Given the description of an element on the screen output the (x, y) to click on. 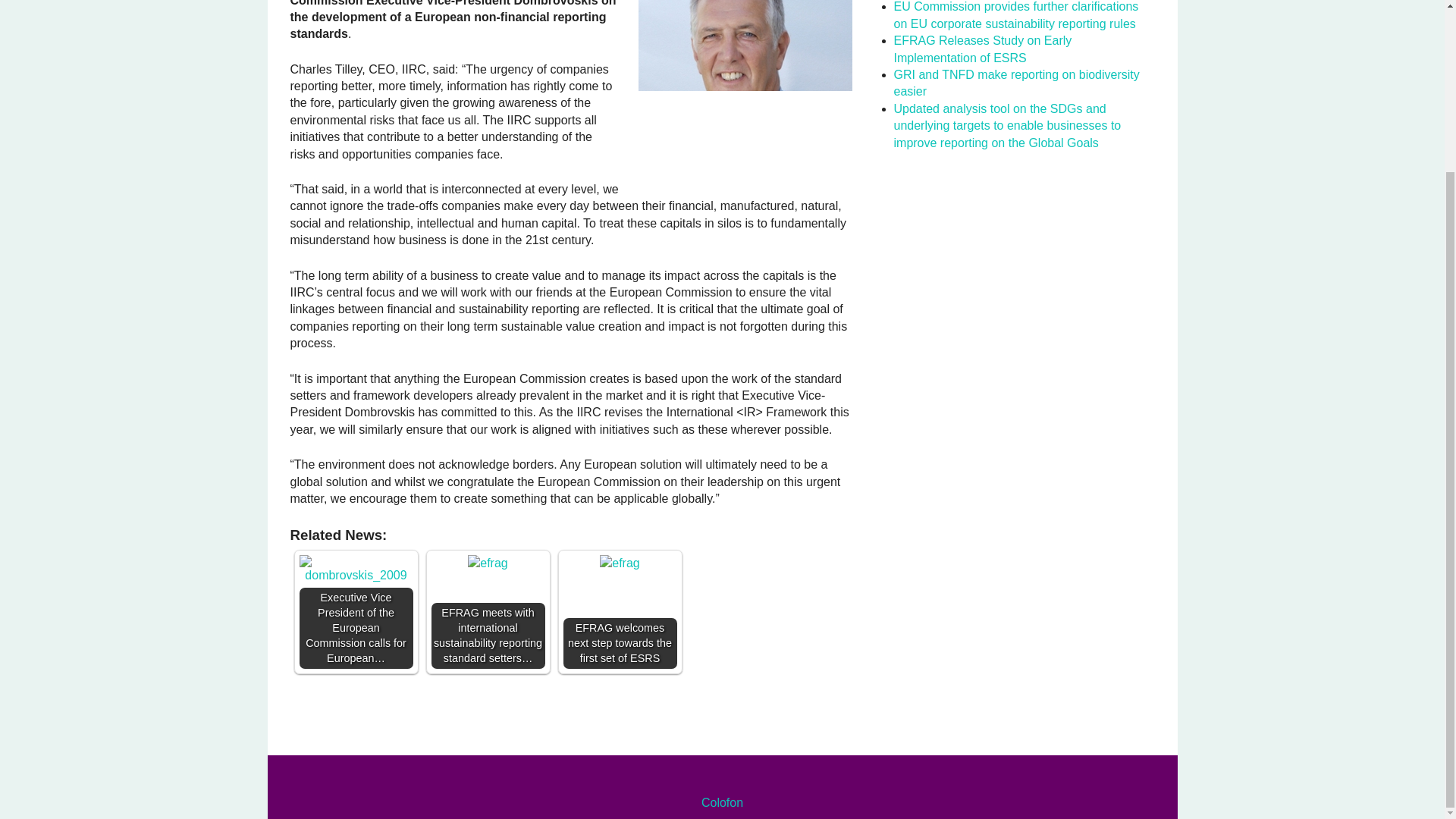
GRI and TNFD make reporting on biodiversity easier (1015, 82)
EFRAG Releases Study on Early Implementation of ESRS (982, 48)
EFRAG welcomes next step towards the first set of ESRS (619, 612)
Colofon (721, 802)
EFRAG welcomes next step towards the first set of ESRS (619, 563)
